Given the description of an element on the screen output the (x, y) to click on. 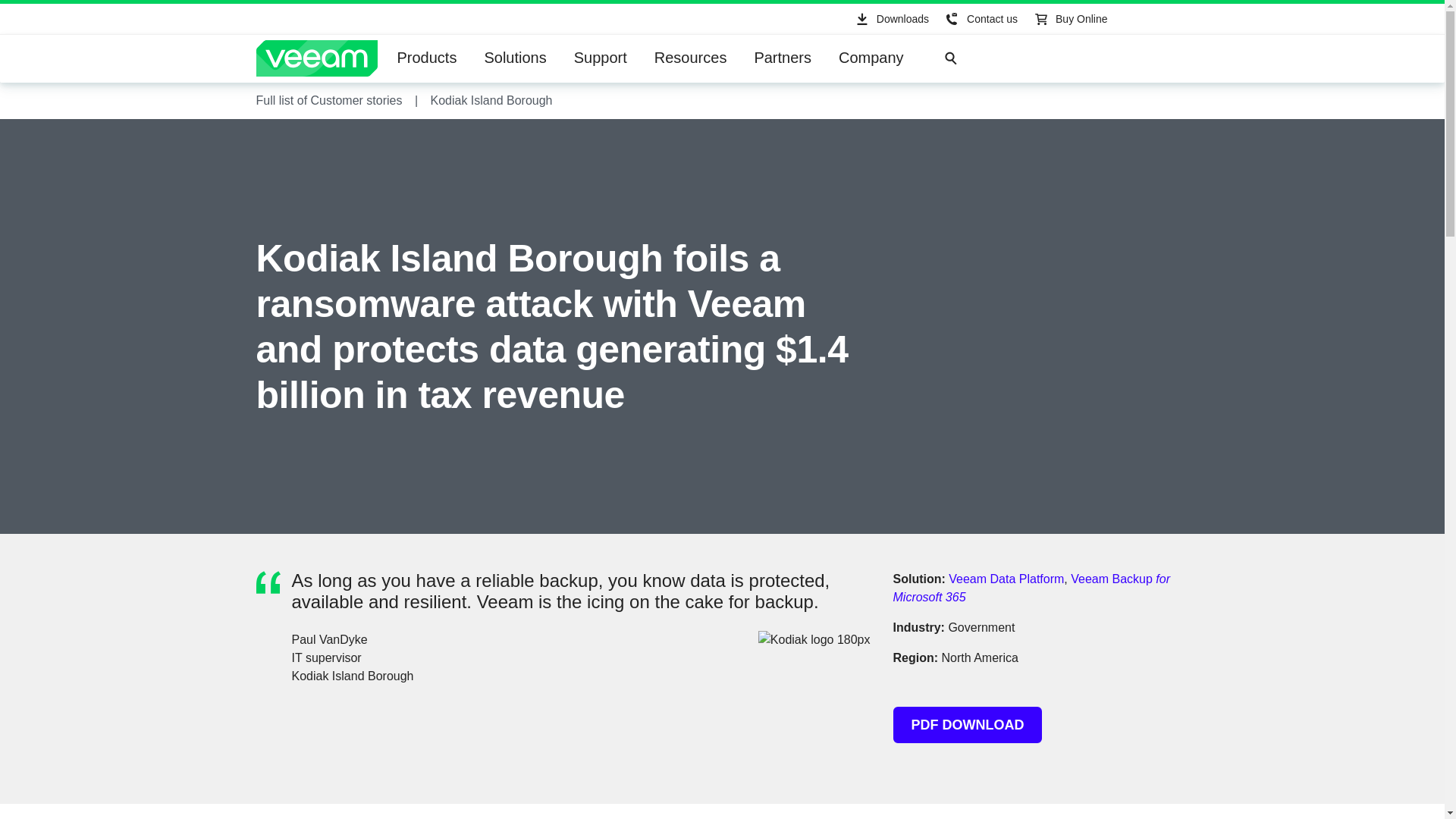
Buy Online (1070, 19)
Products (427, 58)
Downloads (890, 19)
Contact us (980, 19)
